Given the description of an element on the screen output the (x, y) to click on. 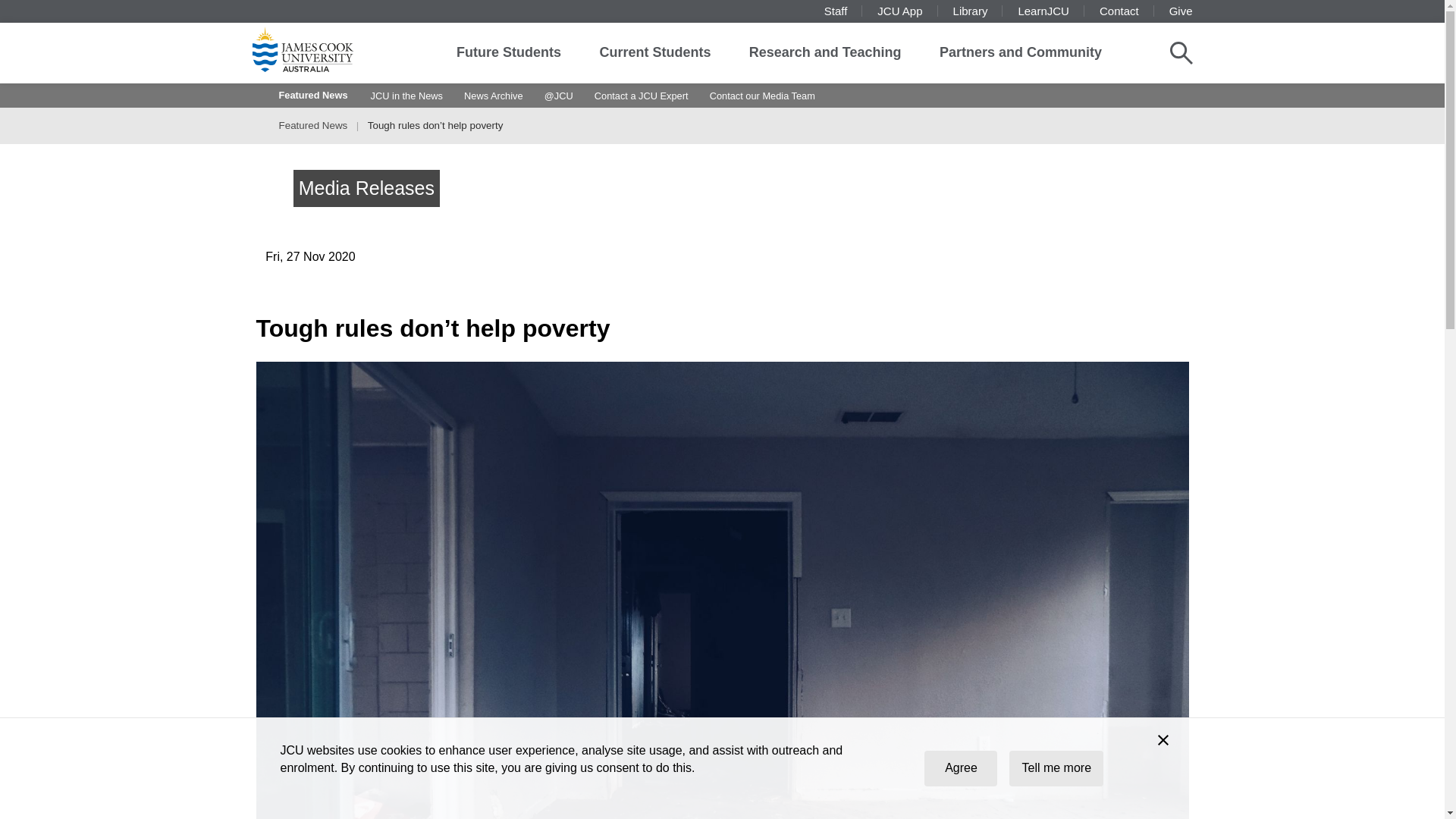
Close popup for session (1163, 742)
Staff (835, 10)
Current Students (654, 52)
LearnJCU (1042, 10)
Contact (1118, 10)
Future Students (508, 52)
JCU App (899, 10)
Library (970, 10)
James Cook University Home (319, 49)
Give (1180, 10)
